Given the description of an element on the screen output the (x, y) to click on. 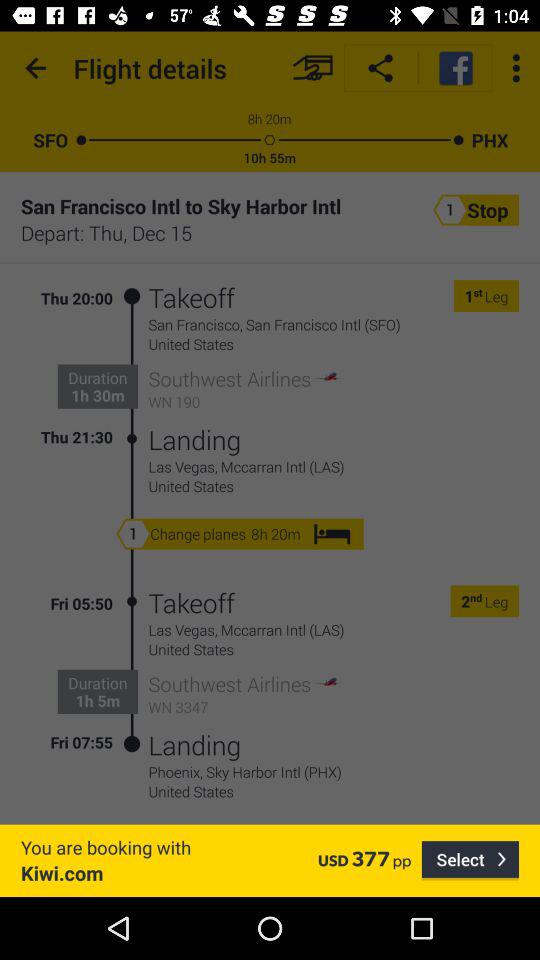
proceed for payment (312, 67)
